Given the description of an element on the screen output the (x, y) to click on. 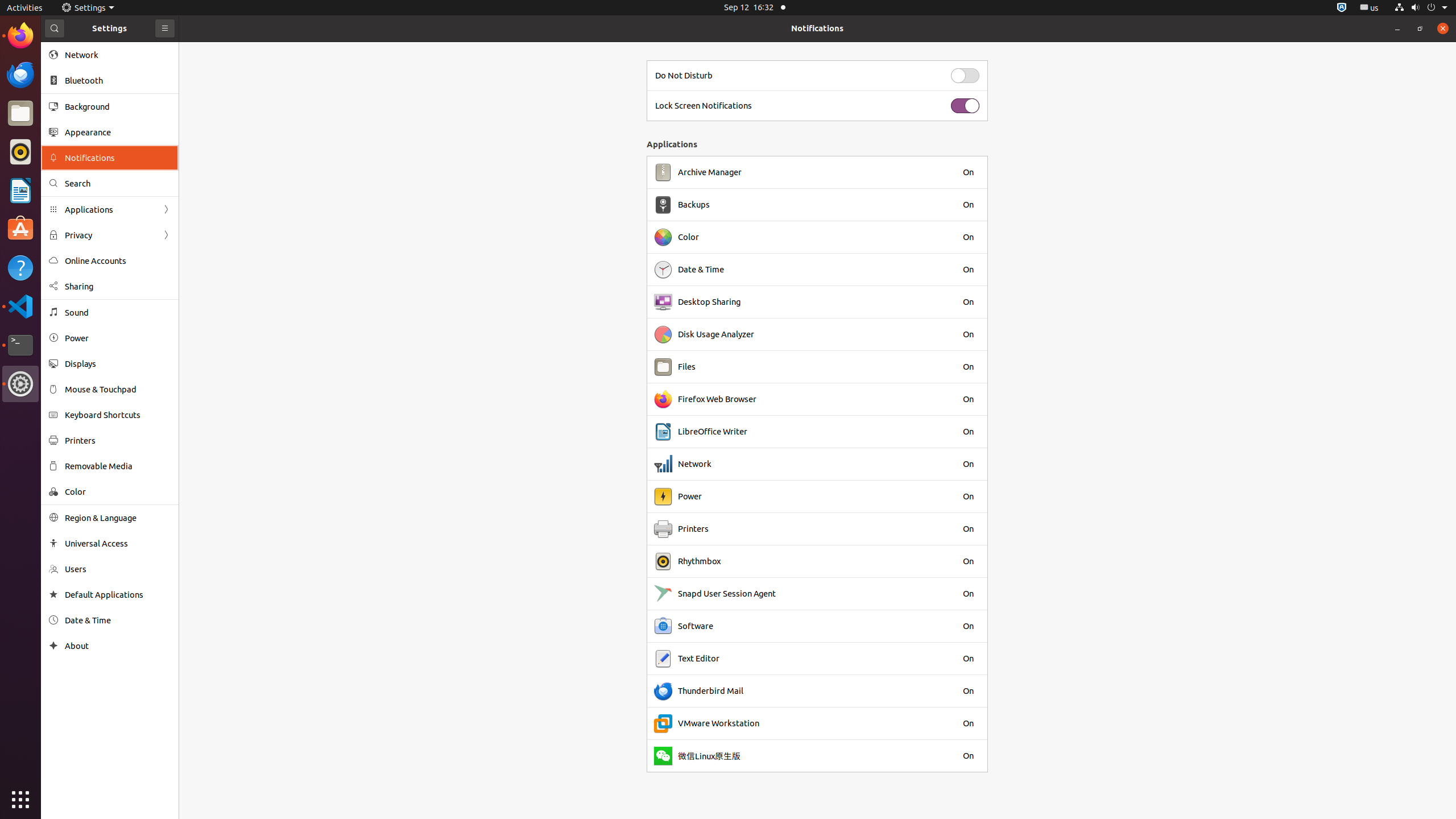
Sound Element type: label (117, 312)
Removable Media Element type: label (117, 465)
Snapd User Session Agent Element type: label (726, 593)
On Element type: label (967, 171)
Terminal Element type: push-button (20, 344)
